Given the description of an element on the screen output the (x, y) to click on. 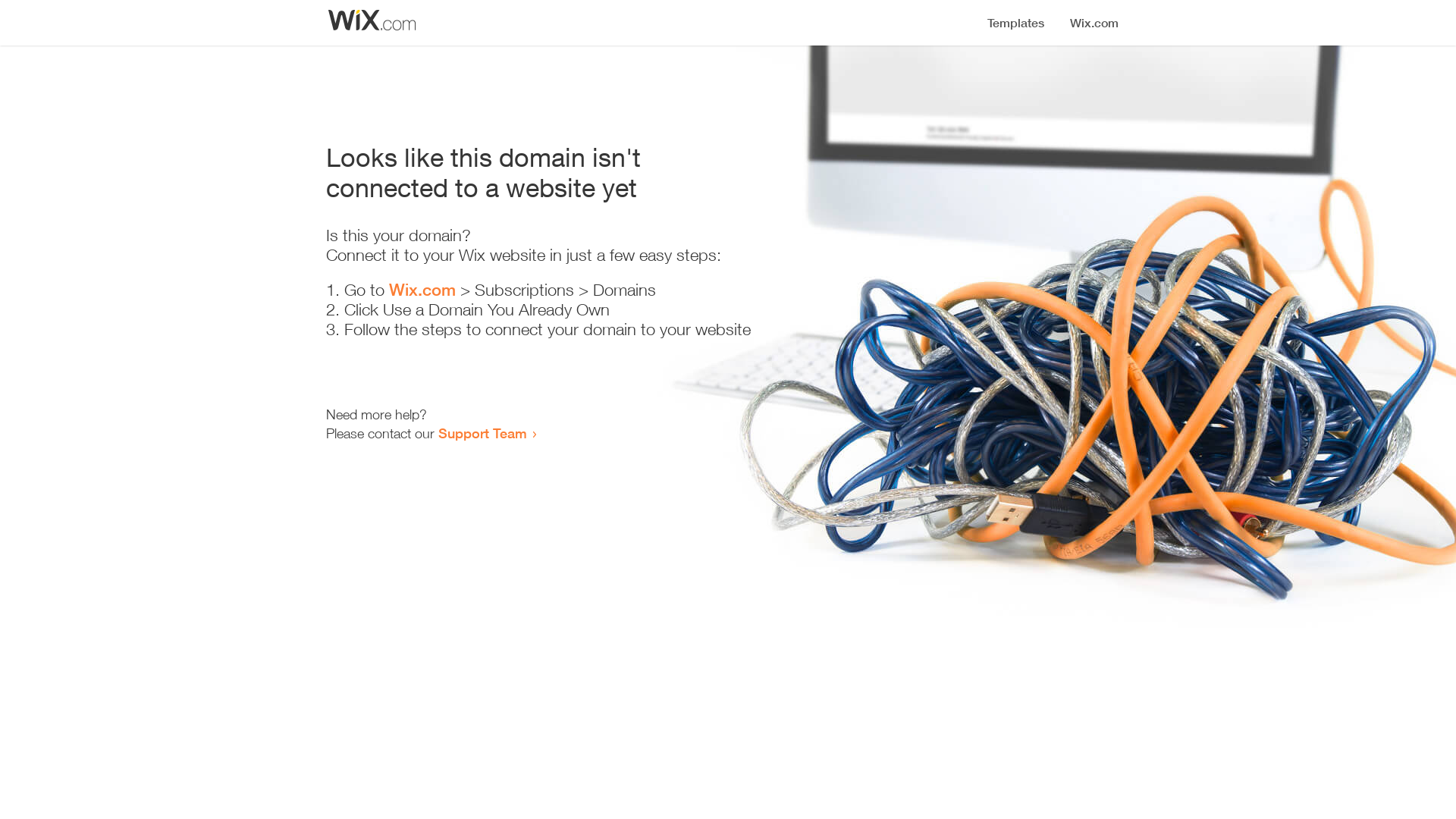
Support Team Element type: text (482, 432)
Wix.com Element type: text (422, 289)
